Given the description of an element on the screen output the (x, y) to click on. 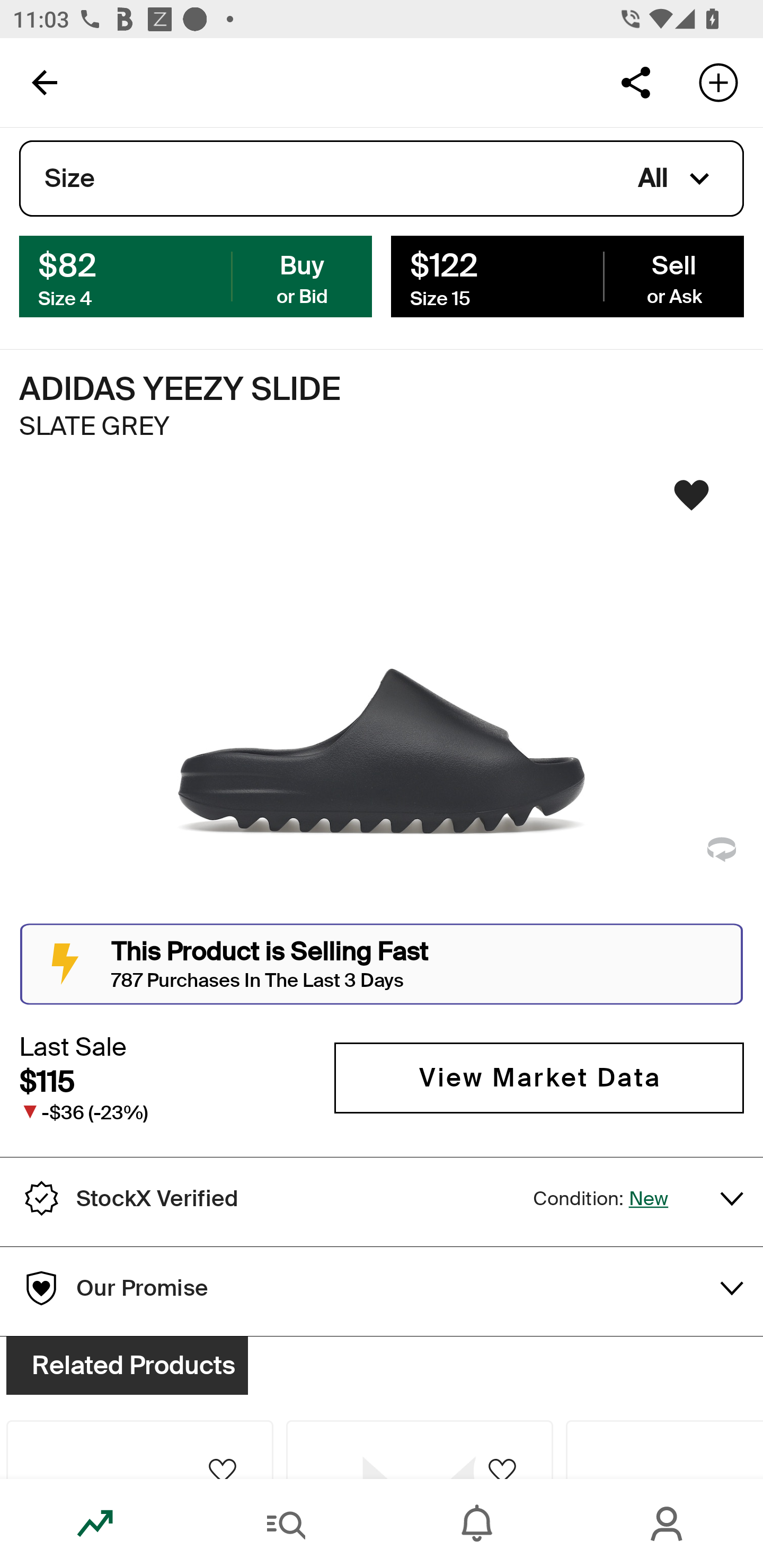
Share (635, 81)
Add (718, 81)
Size All (381, 178)
$82 Buy Size 4 or Bid (195, 275)
$122 Sell Size 15 or Ask (566, 275)
Sneaker Image (381, 699)
View Market Data (538, 1077)
Search (285, 1523)
Inbox (476, 1523)
Account (667, 1523)
